Given the description of an element on the screen output the (x, y) to click on. 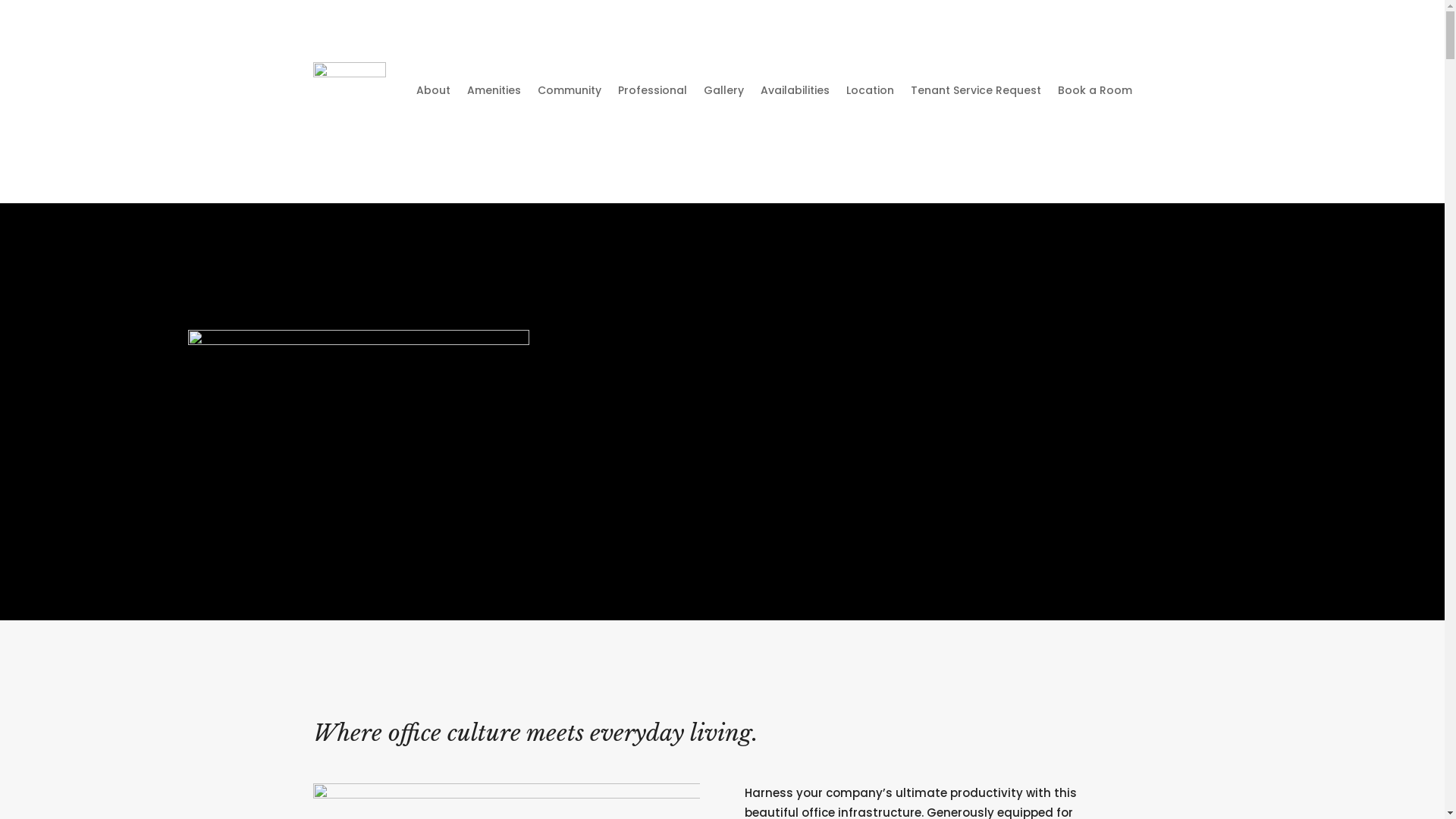
About Element type: text (432, 90)
Community Element type: text (568, 90)
Gallery Element type: text (723, 90)
Tenant Service Request Element type: text (975, 90)
Availabilities Element type: text (793, 90)
Book a Room Element type: text (1094, 90)
Professional Element type: text (651, 90)
Amenities Element type: text (493, 90)
Location Element type: text (870, 90)
